Given the description of an element on the screen output the (x, y) to click on. 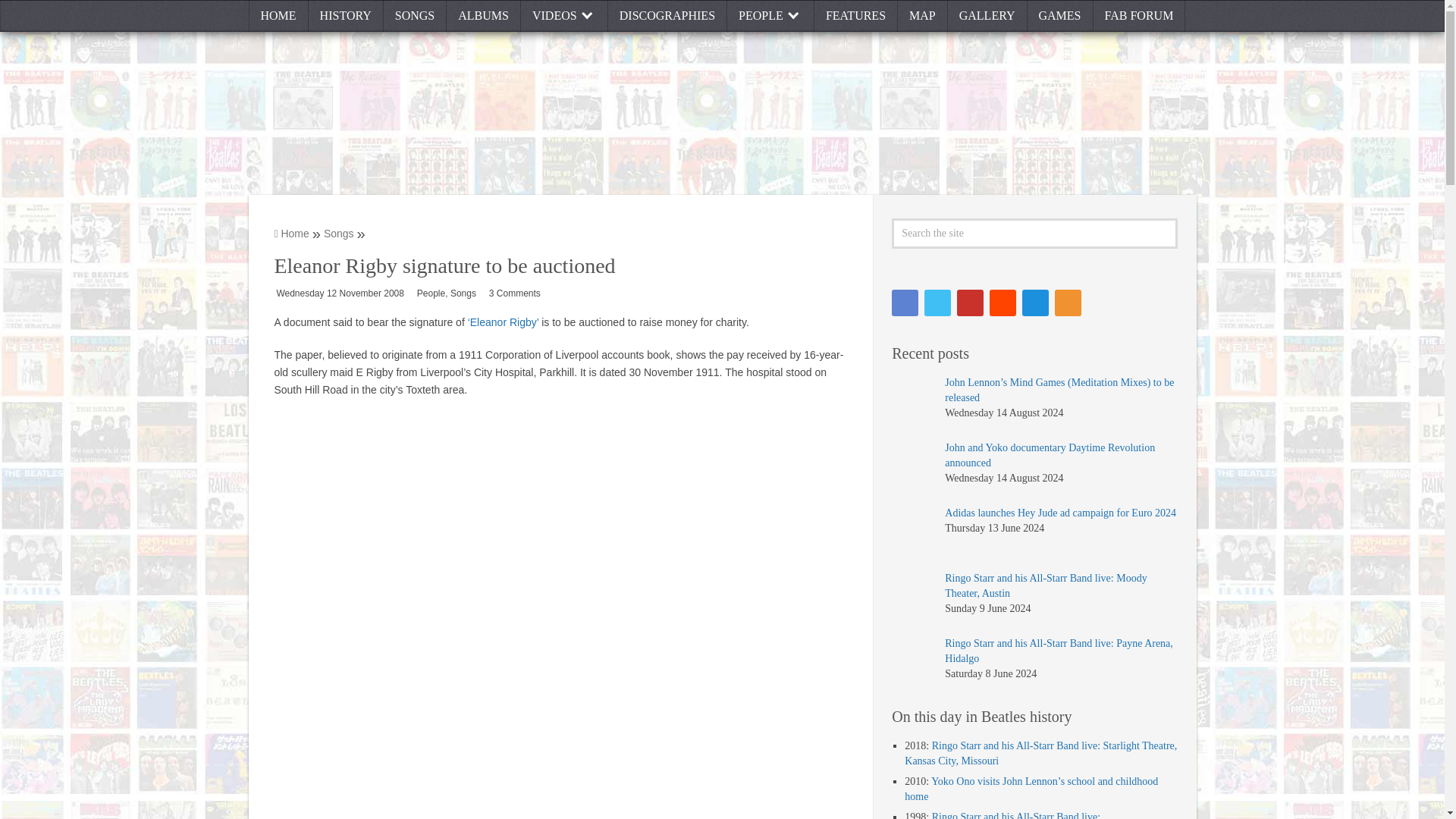
History (346, 15)
ALBUMS (483, 15)
FEATURES (855, 15)
Beatles discographies (667, 15)
Beatles videos (564, 15)
MAP (922, 15)
SONGS (415, 15)
HOME (278, 15)
VIDEOS (564, 15)
GALLERY (987, 15)
